Given the description of an element on the screen output the (x, y) to click on. 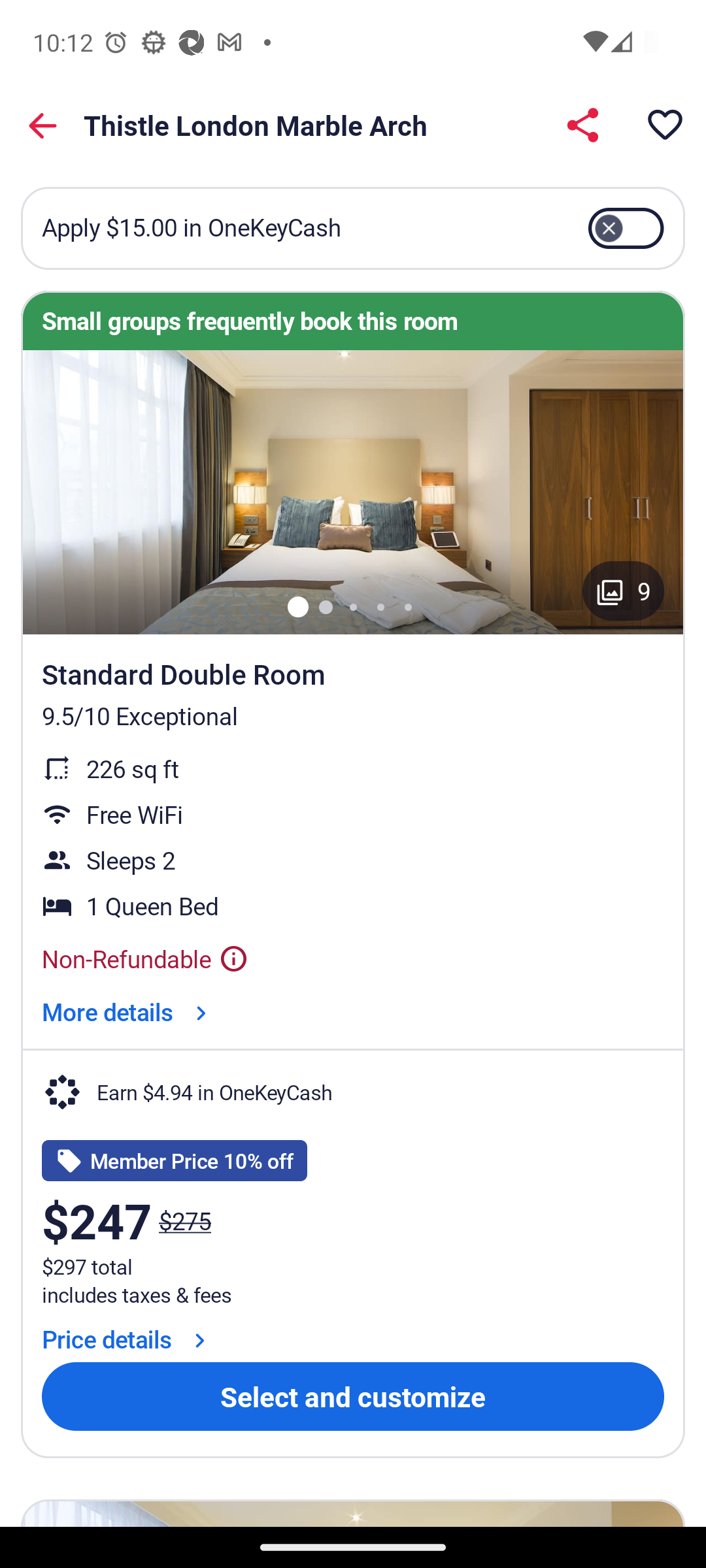
Save property to a trip (664, 124)
Back (43, 125)
Share Thistle London Marble Arch (581, 124)
Gallery button with 9 images (623, 590)
Non-Refundable (145, 958)
$275 The price was $275 (184, 1220)
Select and customize (352, 1396)
